Given the description of an element on the screen output the (x, y) to click on. 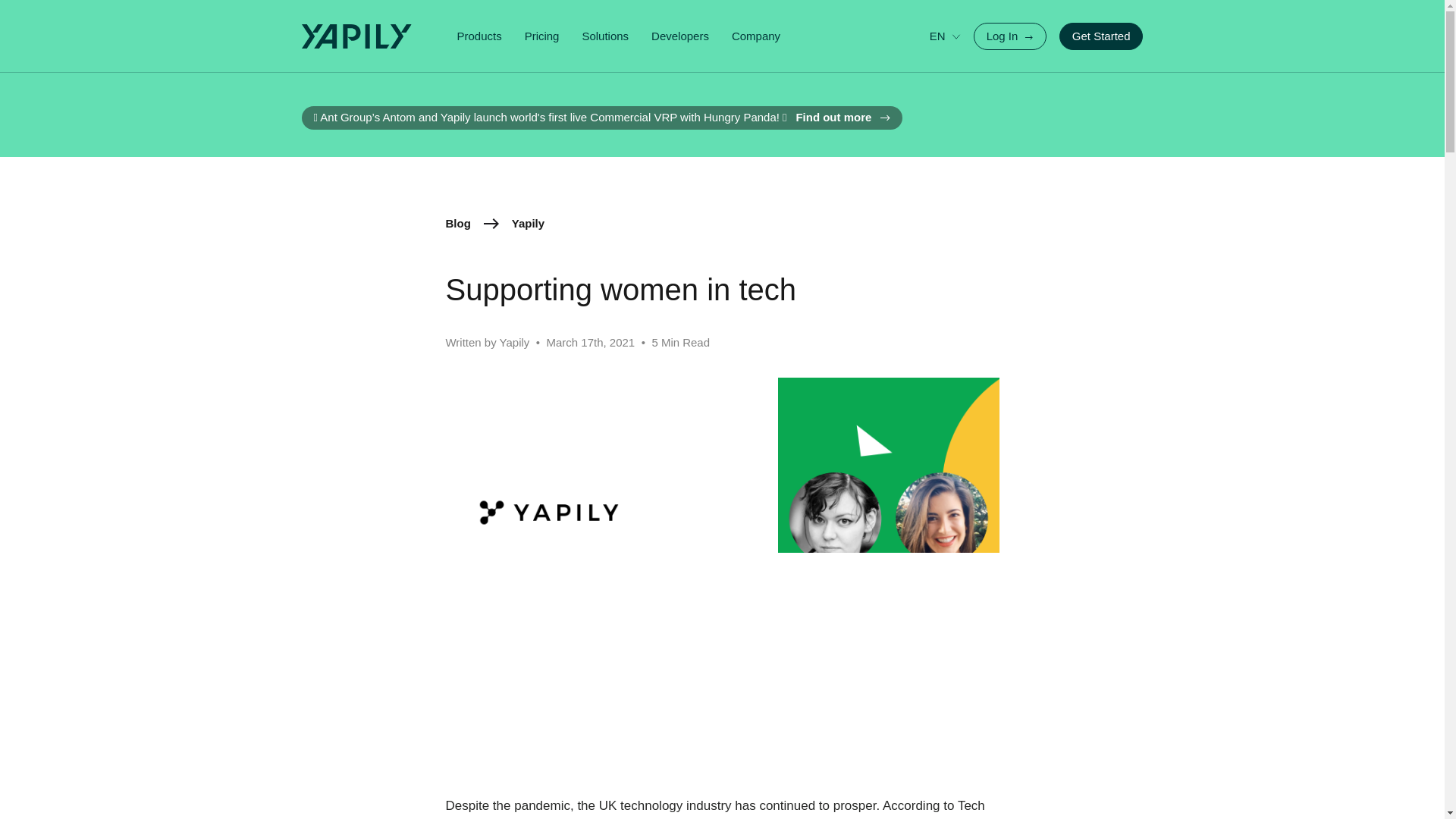
Pricing (541, 36)
Log In (1010, 36)
Get Started (1100, 36)
Yapily Logo (362, 36)
Blog (457, 223)
